Given the description of an element on the screen output the (x, y) to click on. 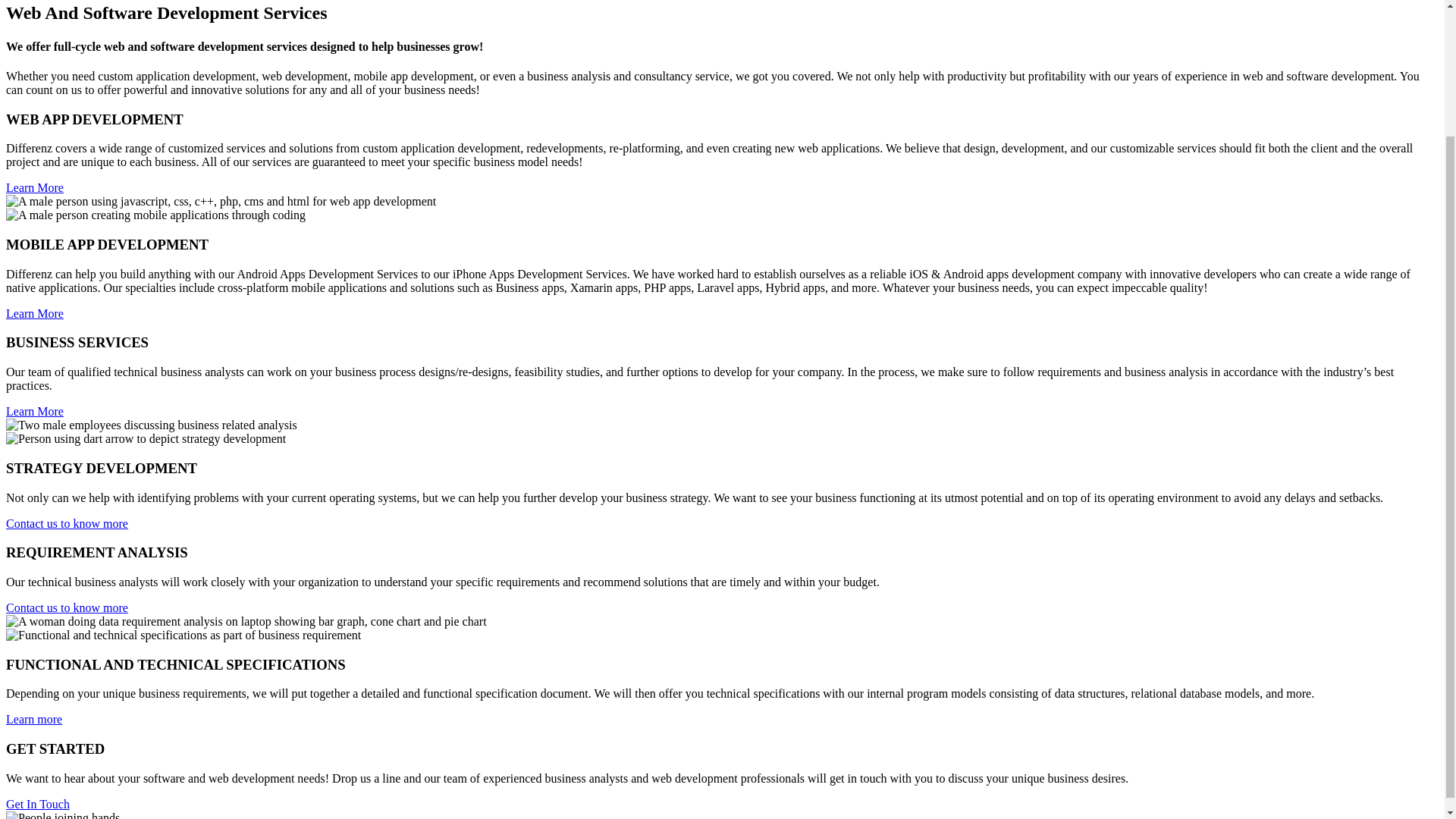
Contact us to know more (66, 522)
Learn More (34, 410)
Learn More (34, 187)
Learn More (34, 313)
Learn more (33, 718)
Get In Touch (37, 803)
Contact us to know more (66, 607)
